Given the description of an element on the screen output the (x, y) to click on. 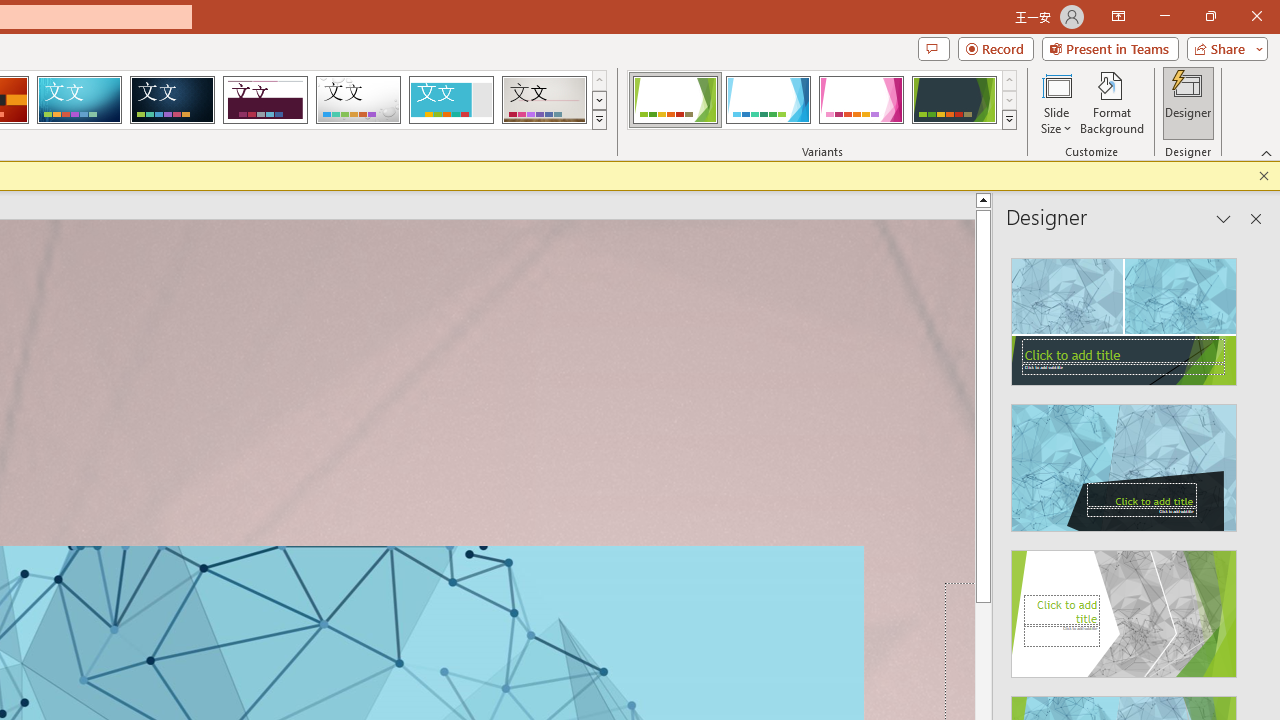
Droplet (358, 100)
Themes (598, 120)
Dividend (265, 100)
